Given the description of an element on the screen output the (x, y) to click on. 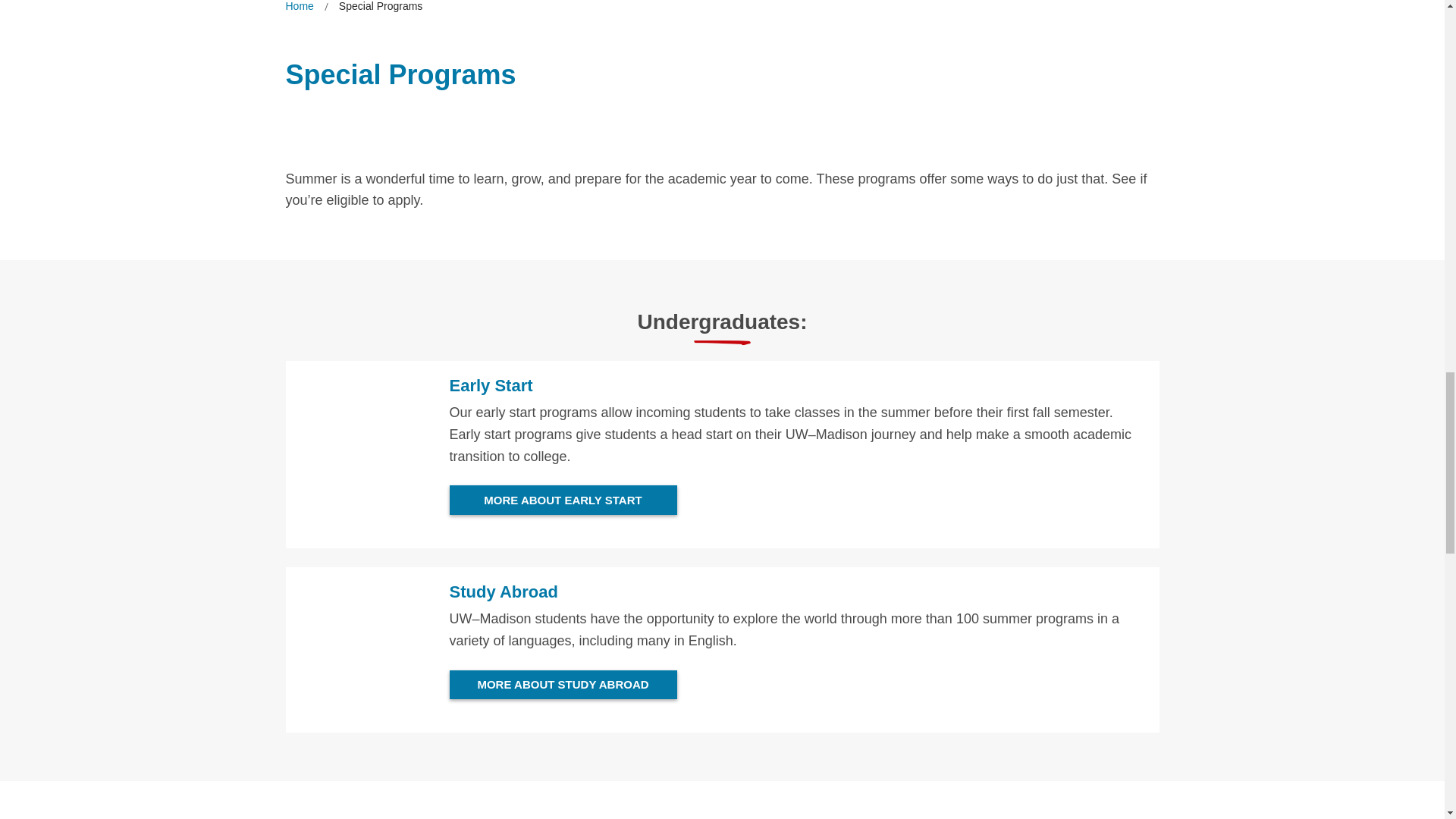
Home (299, 8)
Home (299, 8)
Special Programs (381, 8)
MORE ABOUT EARLY START (562, 499)
Special Programs (381, 8)
Early Start (490, 384)
